Given the description of an element on the screen output the (x, y) to click on. 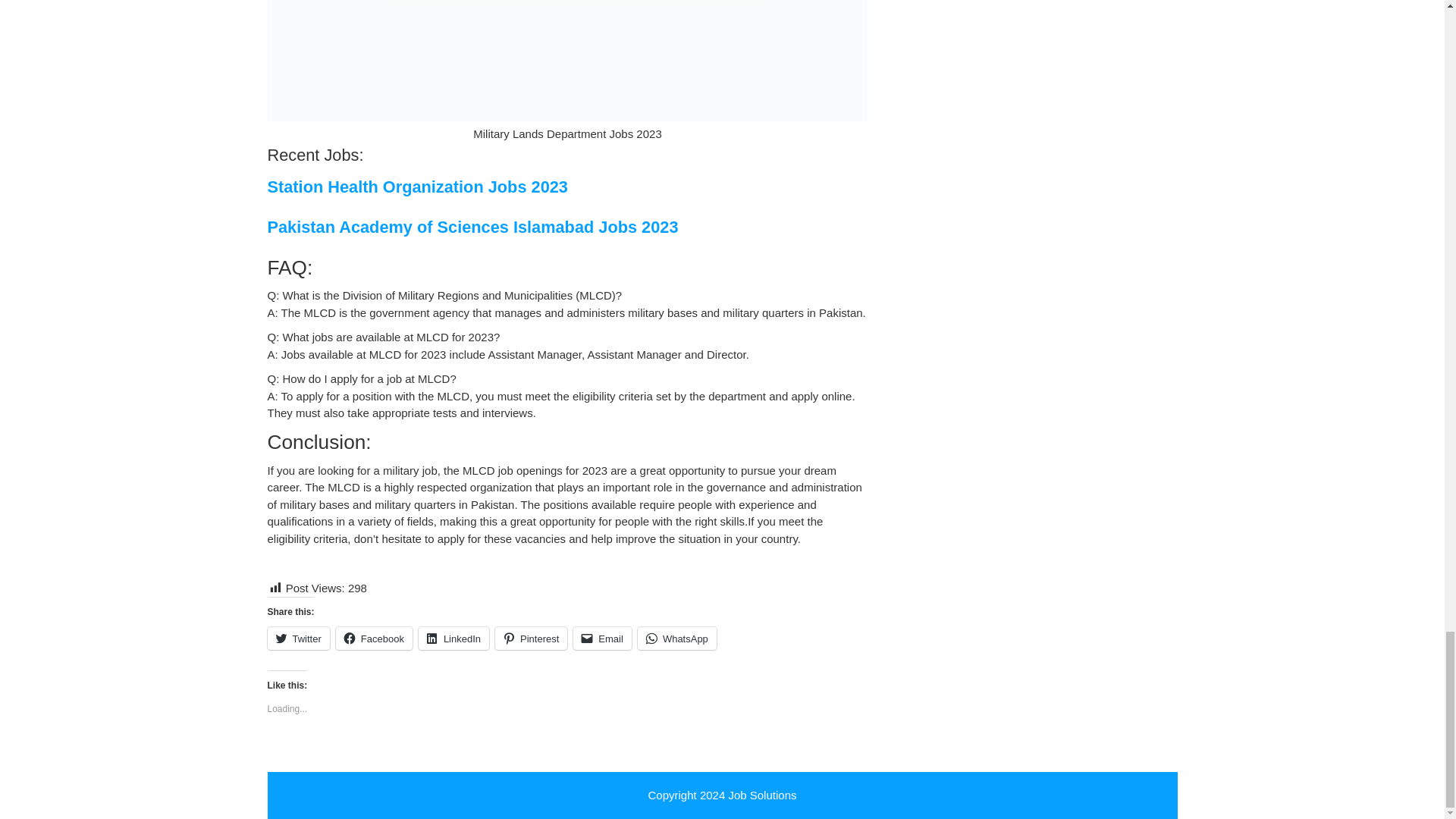
Click to share on WhatsApp (676, 638)
Click to share on LinkedIn (454, 638)
Click to share on Facebook (374, 638)
Click to share on Twitter (297, 638)
Click to email a link to a friend (602, 638)
Click to share on Pinterest (531, 638)
Job Solutions (762, 794)
